Given the description of an element on the screen output the (x, y) to click on. 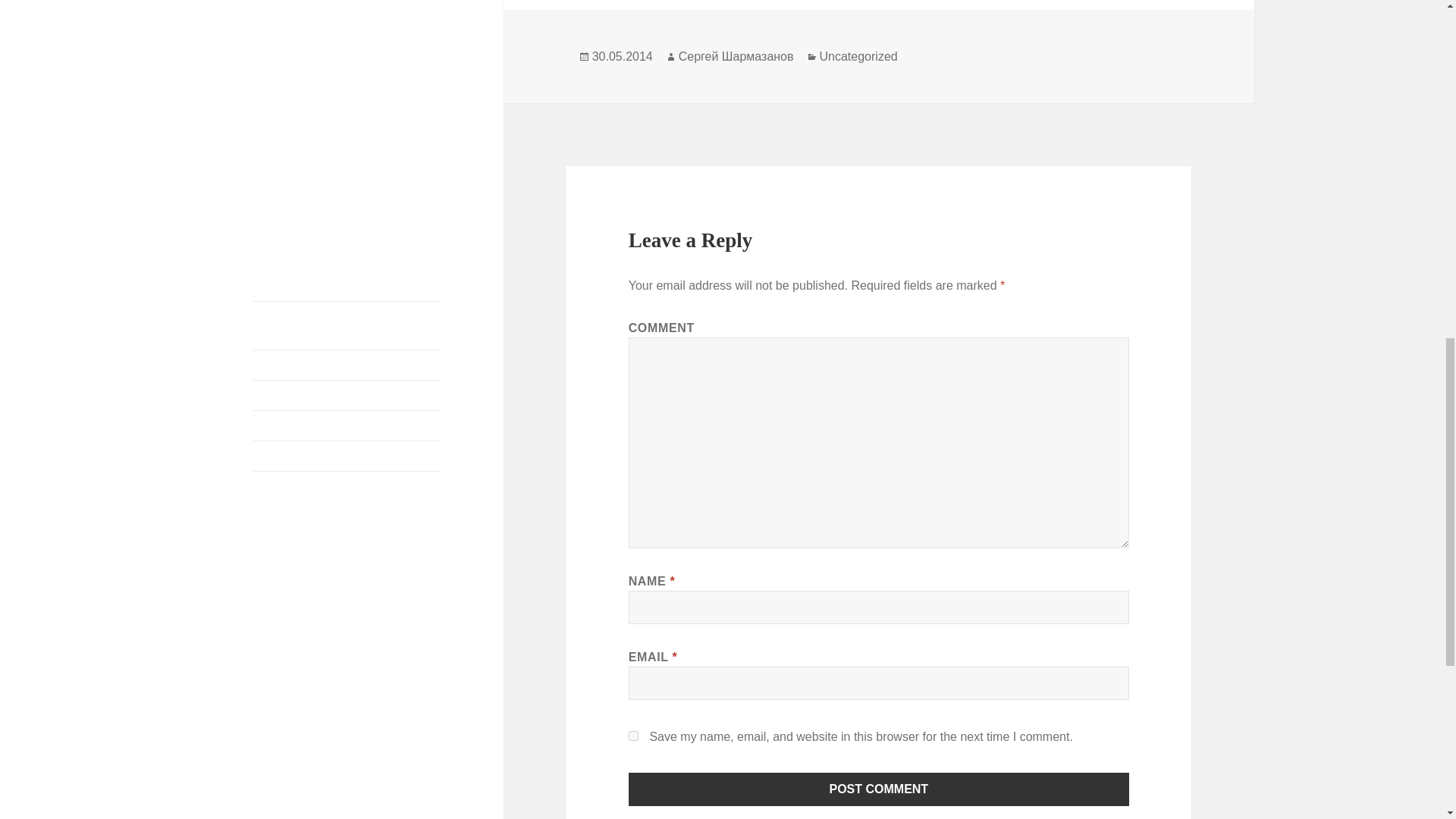
30.05.2014 (622, 56)
Post Comment (878, 789)
yes (633, 736)
Post Comment (878, 789)
